Given the description of an element on the screen output the (x, y) to click on. 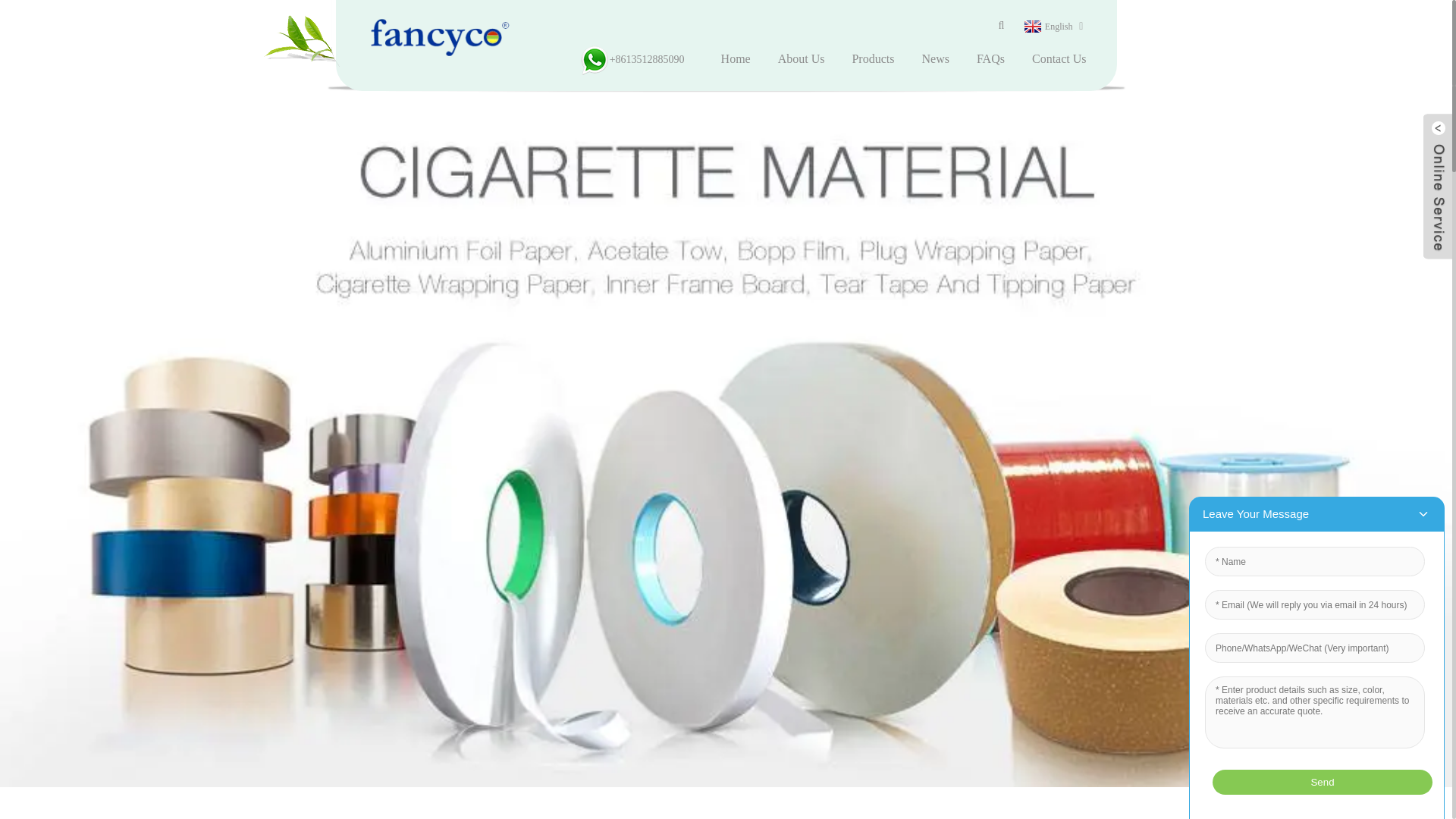
FAQs (989, 58)
News (934, 58)
Contact Us (1058, 58)
English (1046, 26)
About Us (801, 58)
Home (735, 58)
Products (872, 58)
products-subitem (872, 58)
